Given the description of an element on the screen output the (x, y) to click on. 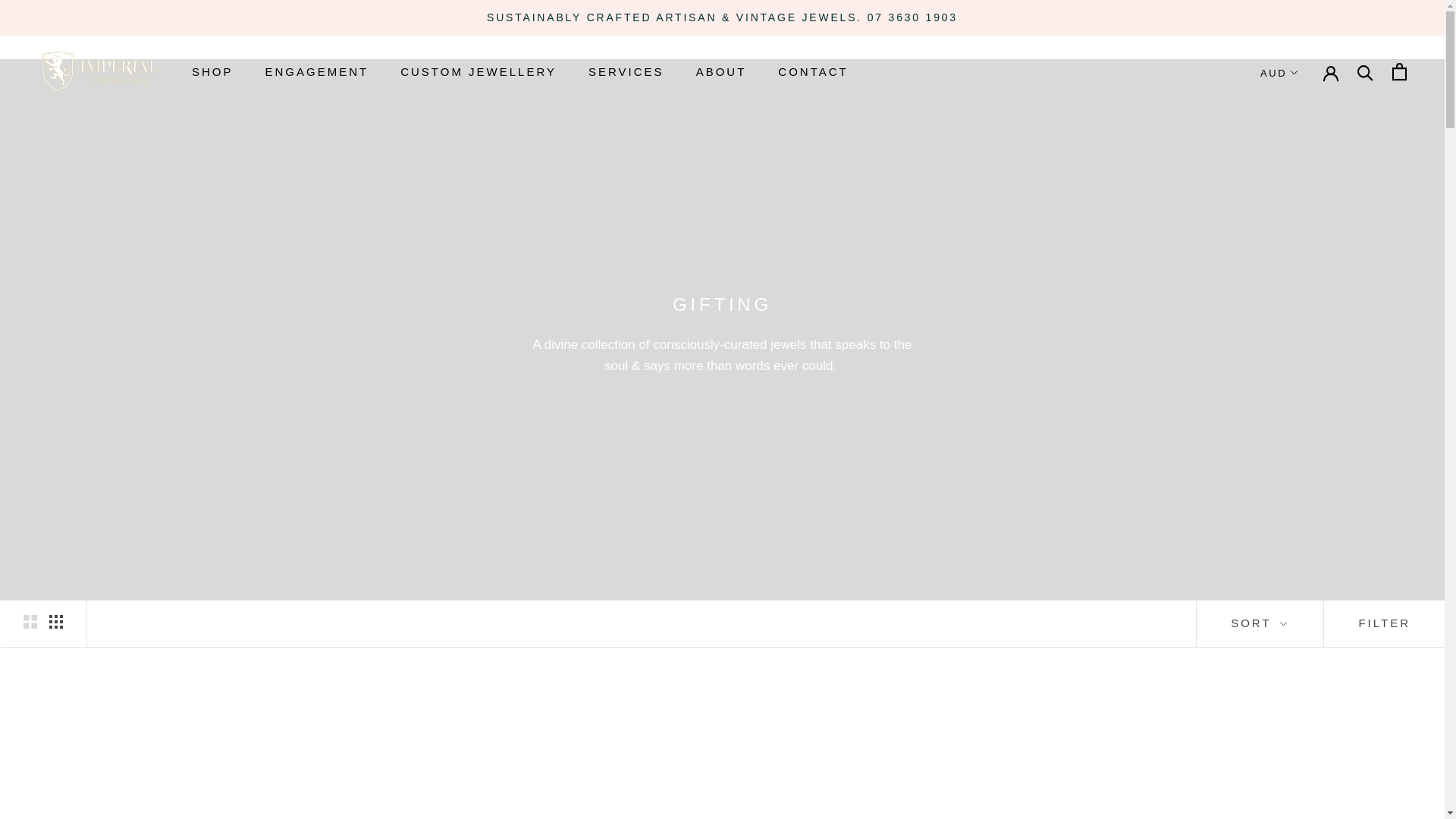
CONTACT
CONTACT Element type: text (812, 71)
SORT Element type: text (1259, 623)
07 3630 1903 Element type: text (912, 17)
ENGAGEMENT
ENGAGEMENT Element type: text (317, 71)
FILTER Element type: text (1383, 623)
ABOUT
ABOUT Element type: text (721, 71)
CUSTOM JEWELLERY
CUSTOM JEWELLERY Element type: text (478, 71)
SHOP
SHOP Element type: text (212, 71)
SERVICES
SERVICES Element type: text (626, 71)
